Given the description of an element on the screen output the (x, y) to click on. 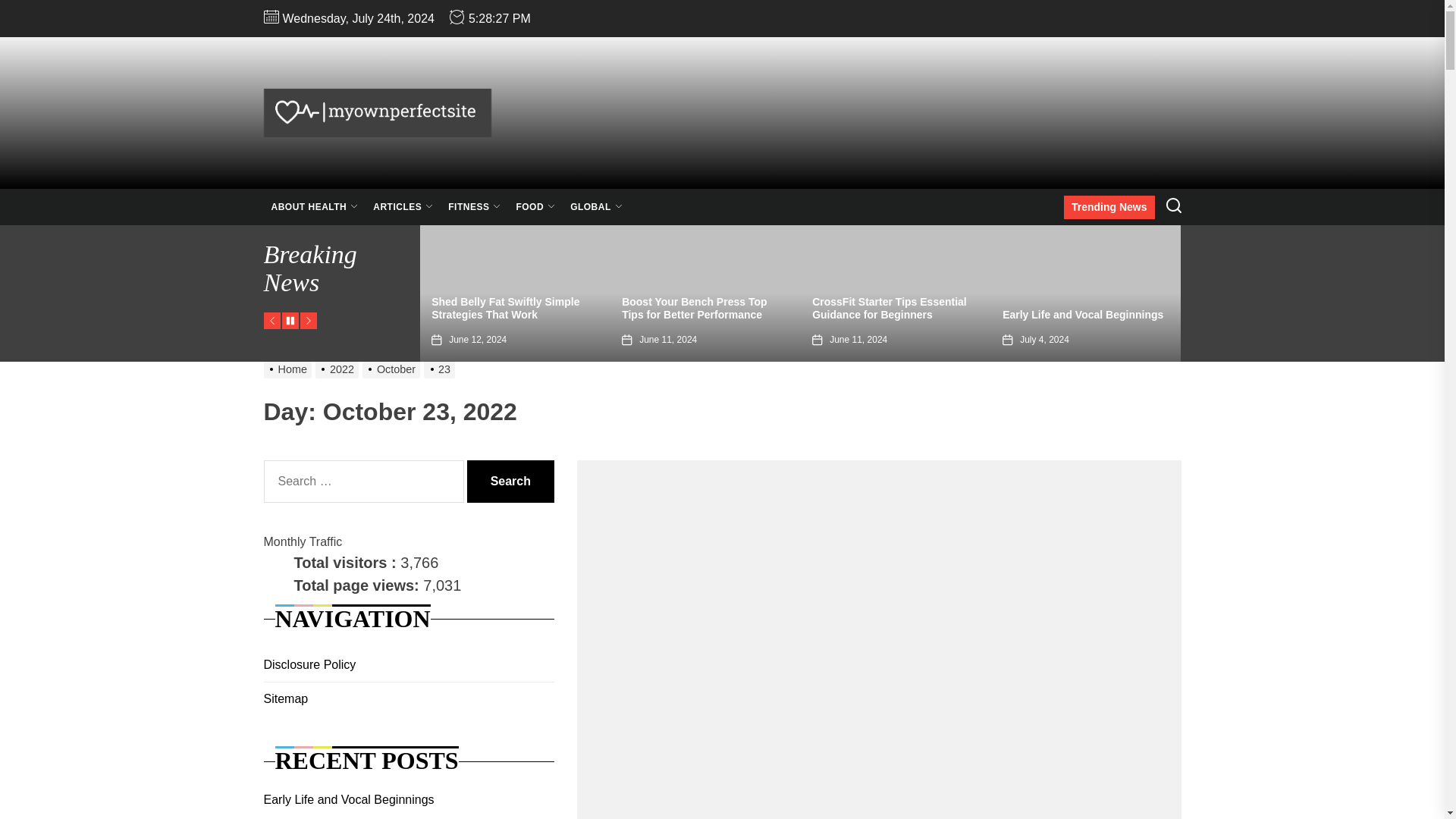
Shed Belly Fat Swiftly Simple Strategies That Work (504, 308)
ARTICLES (403, 207)
Trending News (1109, 207)
FOOD (535, 207)
Boost Your Bench Press Top Tips for Better Performance (694, 308)
Search (510, 481)
ABOUT HEALTH (314, 207)
MYOWNPERFECTSITE (558, 168)
FITNESS (474, 207)
CrossFit Starter Tips Essential Guidance for Beginners (889, 308)
Search (510, 481)
GLOBAL (596, 207)
